Given the description of an element on the screen output the (x, y) to click on. 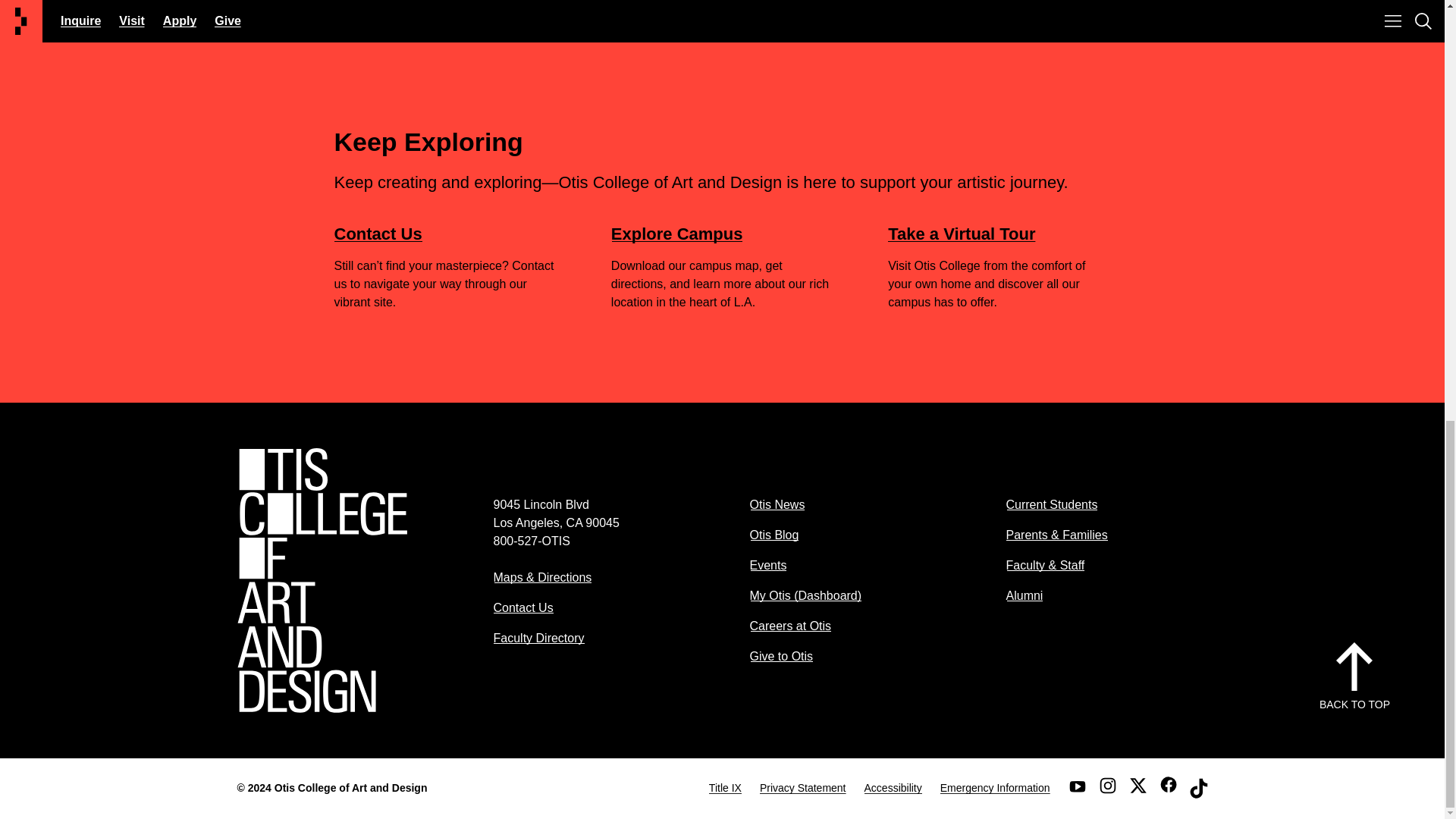
Contact Us (377, 233)
Explore Campus (676, 233)
Contact Us (523, 607)
Otis News (777, 504)
Faculty Directory (538, 637)
Otis Blog (773, 534)
Take a Virtual Tour (961, 233)
Events (767, 564)
